Given the description of an element on the screen output the (x, y) to click on. 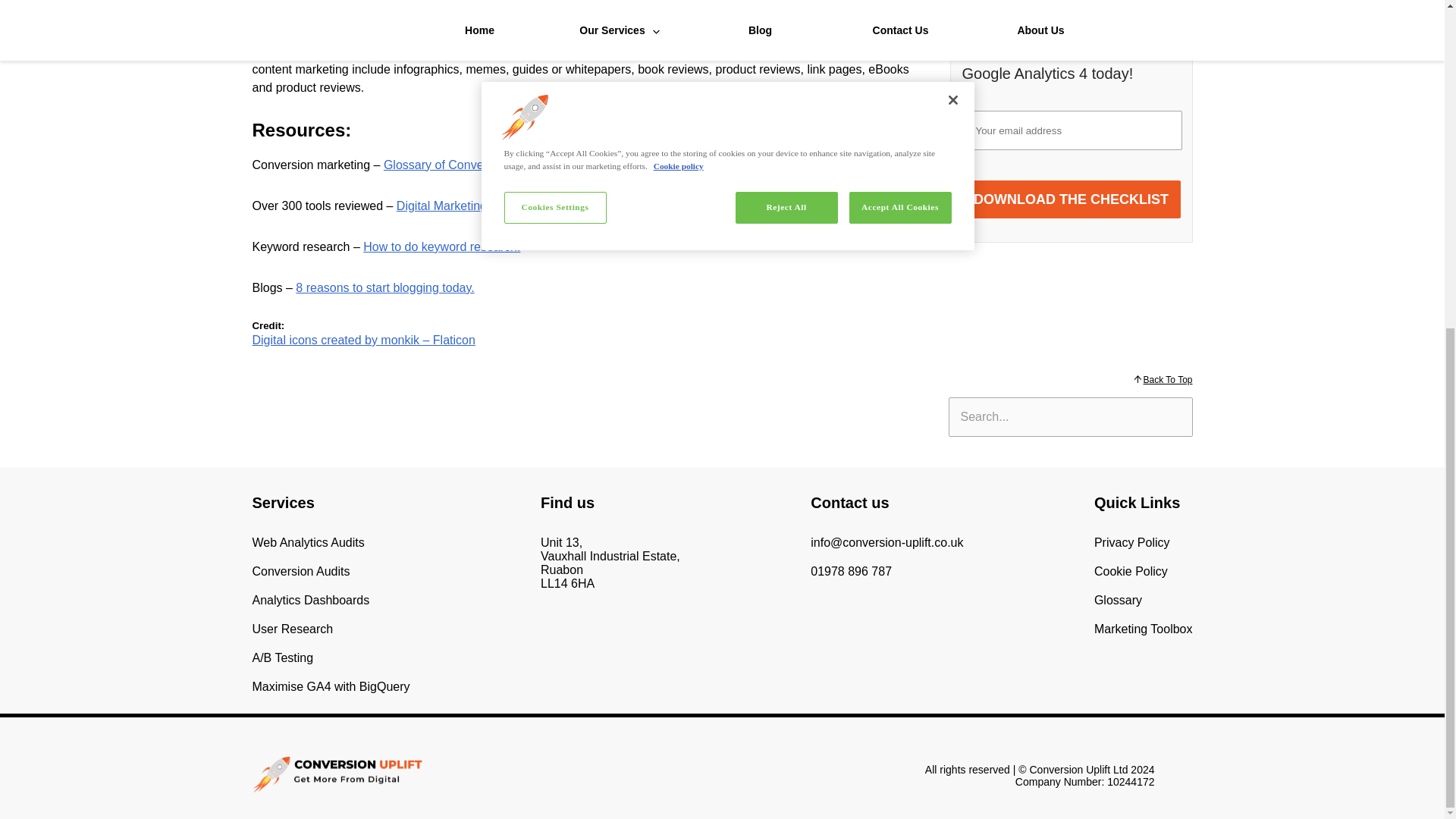
Digital Marketing Toolbox. (465, 205)
How to do keyword research. (440, 246)
Download the Checklist (1069, 156)
Web Analytics Audits (307, 542)
Back To Top (1167, 379)
Download the Checklist (1069, 156)
Glossary of Conversion Marketing. (476, 164)
8 reasons to start blogging today. (384, 287)
